Given the description of an element on the screen output the (x, y) to click on. 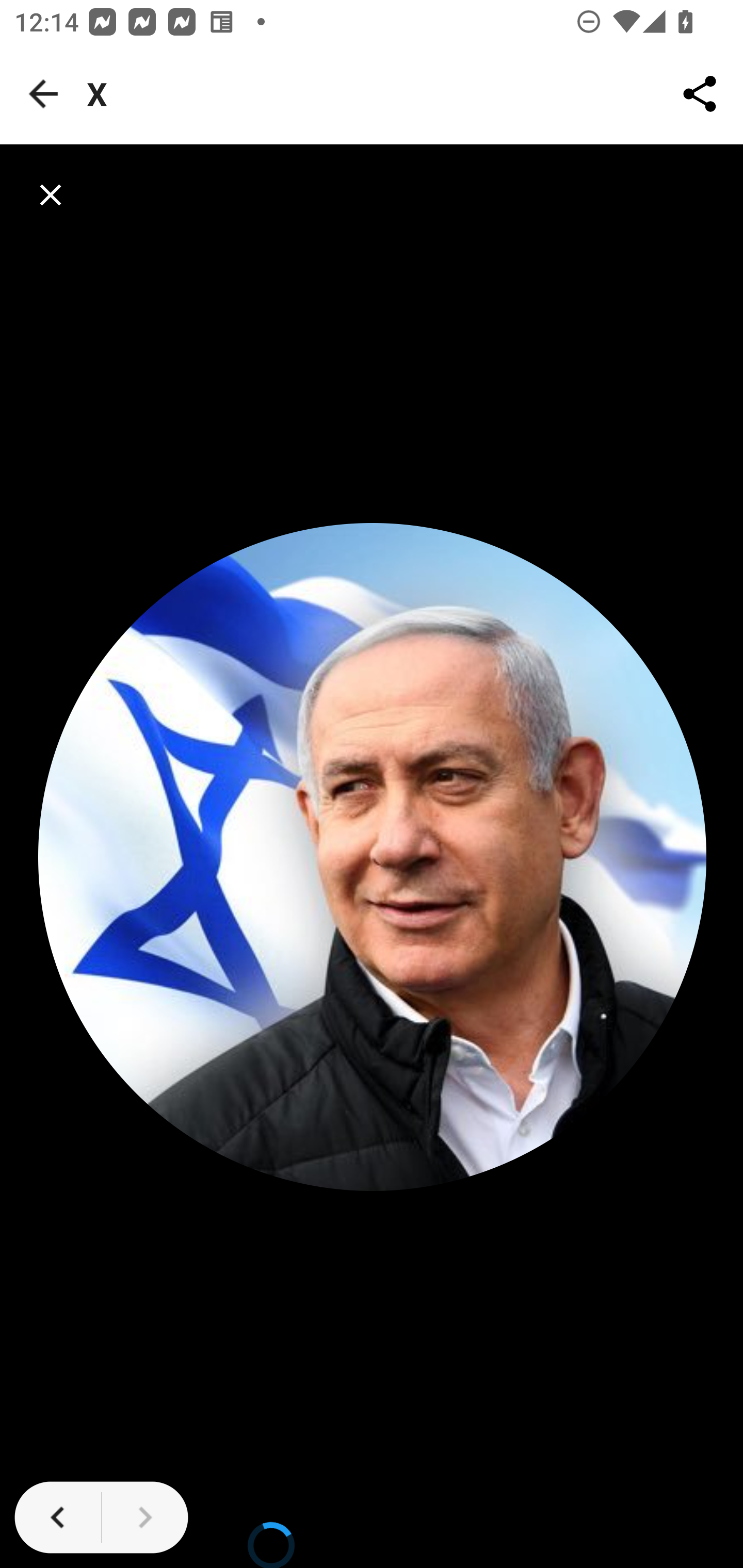
Close (50, 195)
Image (372, 855)
